Given the description of an element on the screen output the (x, y) to click on. 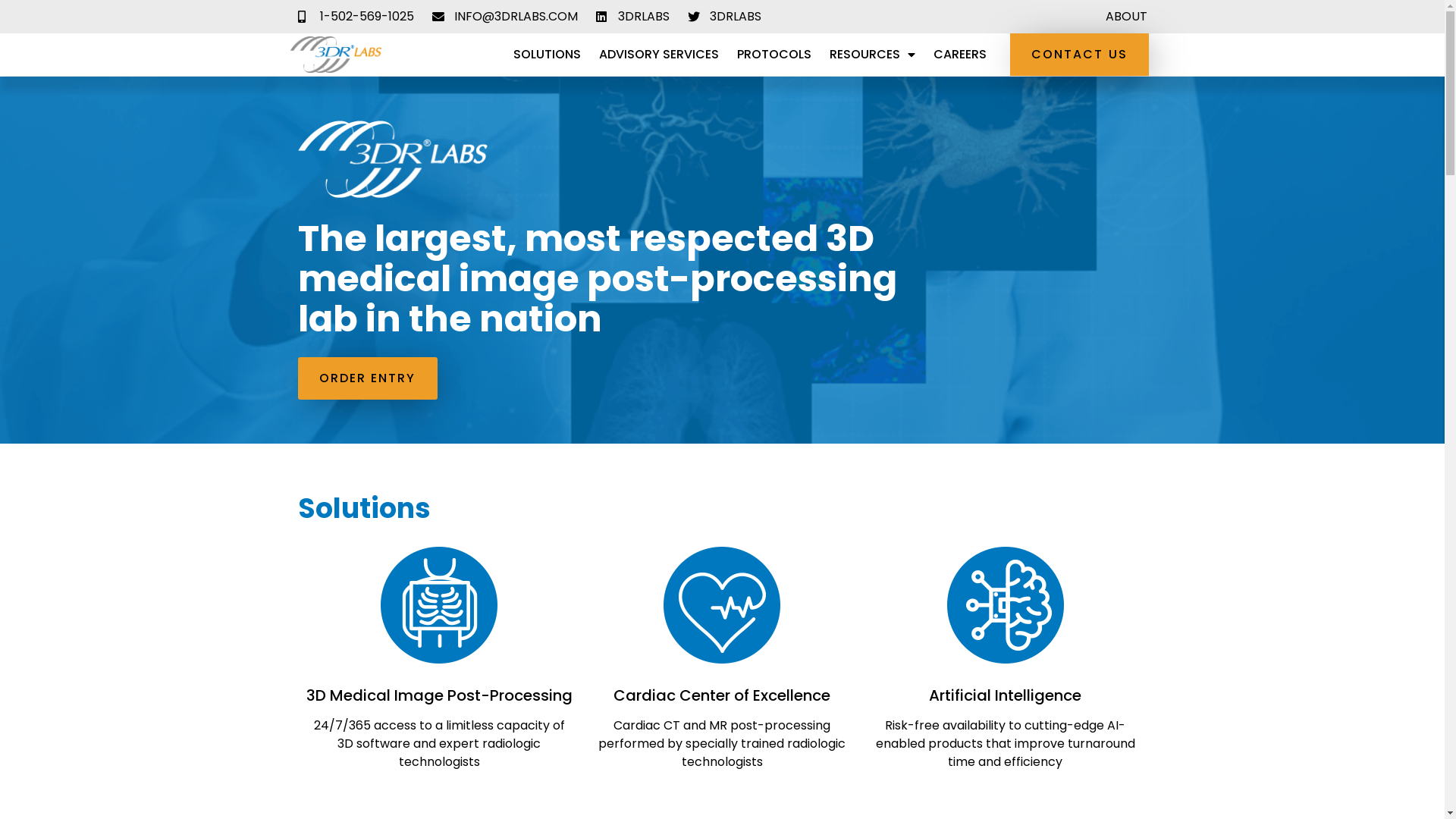
SOLUTIONS Element type: text (546, 54)
PROTOCOLS Element type: text (774, 54)
CAREERS Element type: text (959, 54)
3DRLABS Element type: text (723, 16)
ADVISORY SERVICES Element type: text (658, 54)
Cardiac Center of Excellence Element type: text (721, 695)
ABOUT Element type: text (1126, 16)
3DRLABS Element type: text (632, 16)
Artificial Intelligence Element type: text (1004, 695)
RESOURCES Element type: text (872, 54)
1-502-569-1025 Element type: text (355, 16)
CONTACT US Element type: text (1079, 54)
ORDER ENTRY Element type: text (366, 378)
3D Medical Image Post-Processing Element type: text (439, 695)
INFO@3DRLABS.COM Element type: text (504, 16)
